Given the description of an element on the screen output the (x, y) to click on. 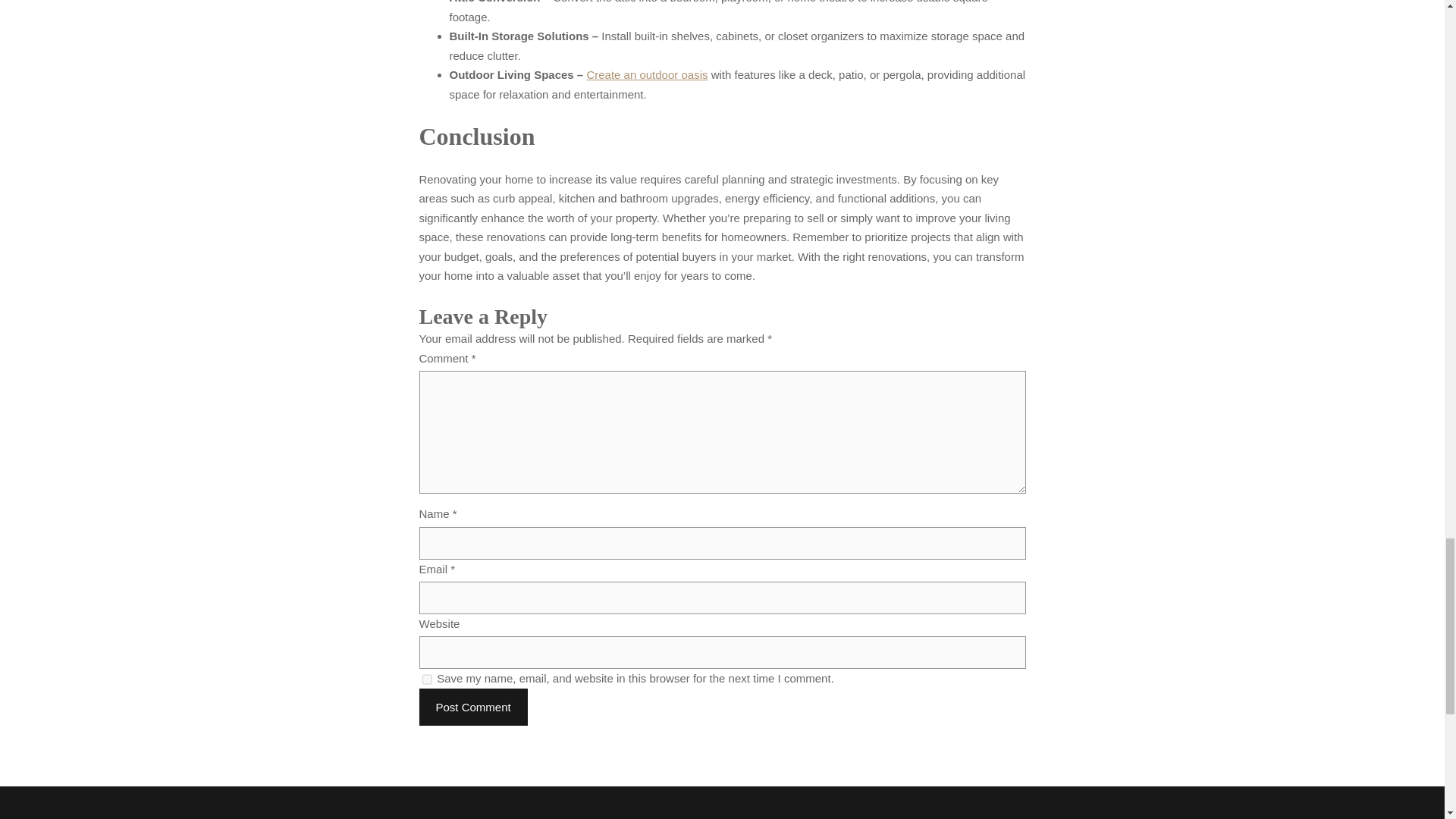
Create an outdoor oasis (646, 74)
Post Comment (473, 707)
Post Comment (473, 707)
